Given the description of an element on the screen output the (x, y) to click on. 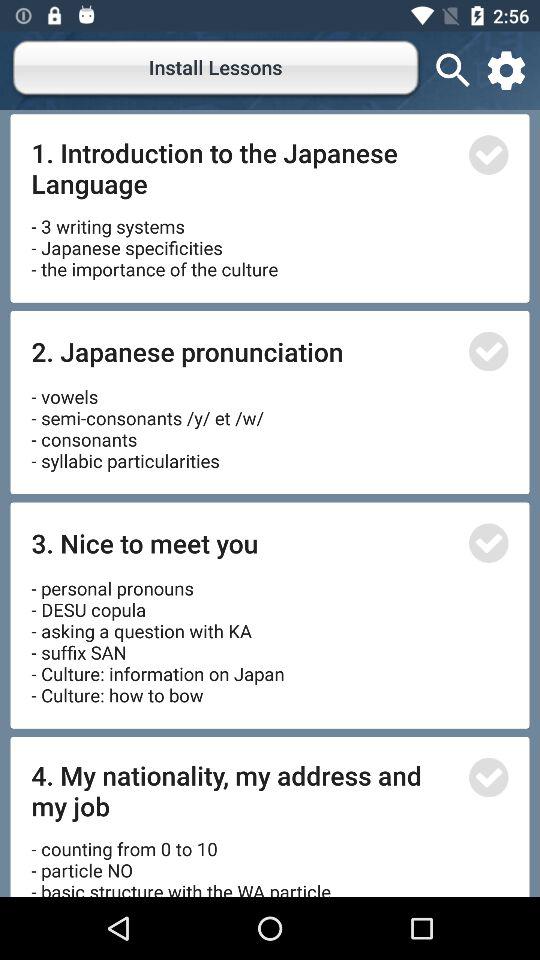
click icon below the 4 my nationality item (183, 859)
